Given the description of an element on the screen output the (x, y) to click on. 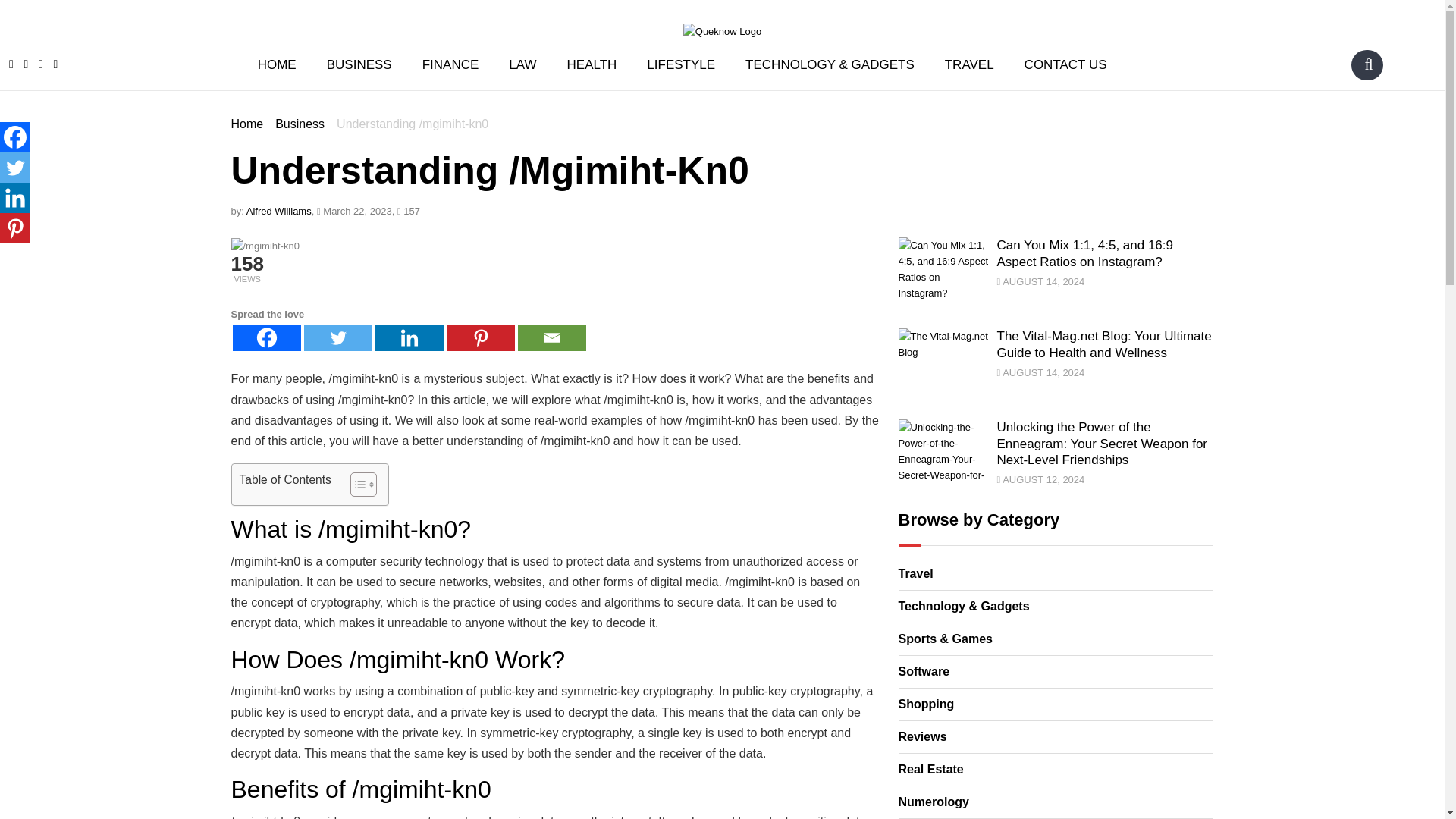
Twitter (336, 337)
Twitter (15, 167)
Pinterest (479, 337)
FINANCE (451, 64)
Linkedin (15, 197)
Business (299, 123)
BUSINESS (359, 64)
Search (1368, 64)
CONTACT US (1065, 64)
LAW (522, 64)
